Given the description of an element on the screen output the (x, y) to click on. 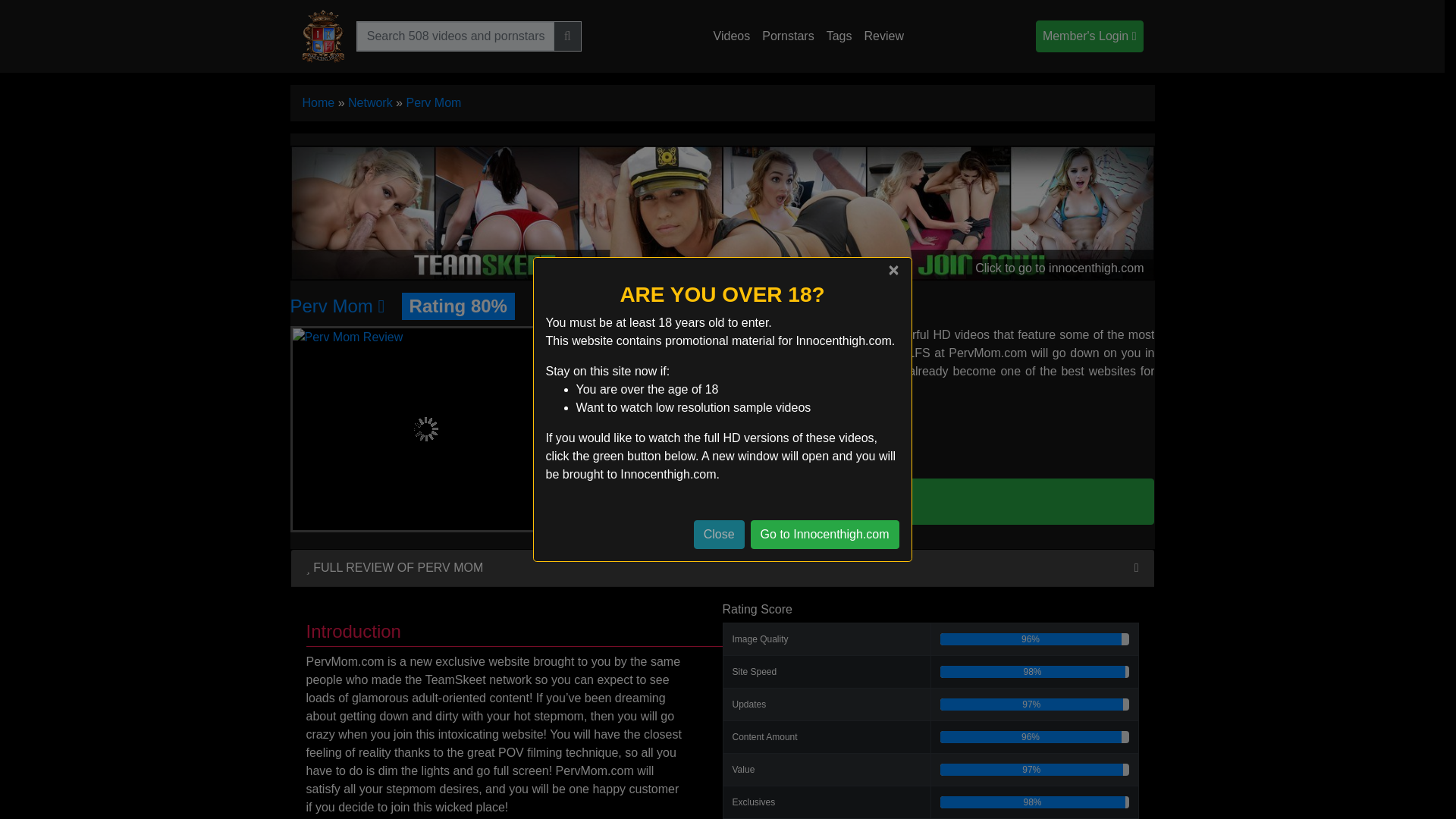
View all innocenthigh.com pornstars and their free videos (787, 36)
VISIT SITE (869, 501)
Click to go to innocenthigh.com (721, 211)
Pornstars (787, 36)
Member's Login (1088, 36)
Review (882, 36)
All Tags (840, 36)
Click to go to innocenthigh.com (721, 211)
innocenthigh.com review (882, 36)
Visit Perv Mom (869, 501)
